Given the description of an element on the screen output the (x, y) to click on. 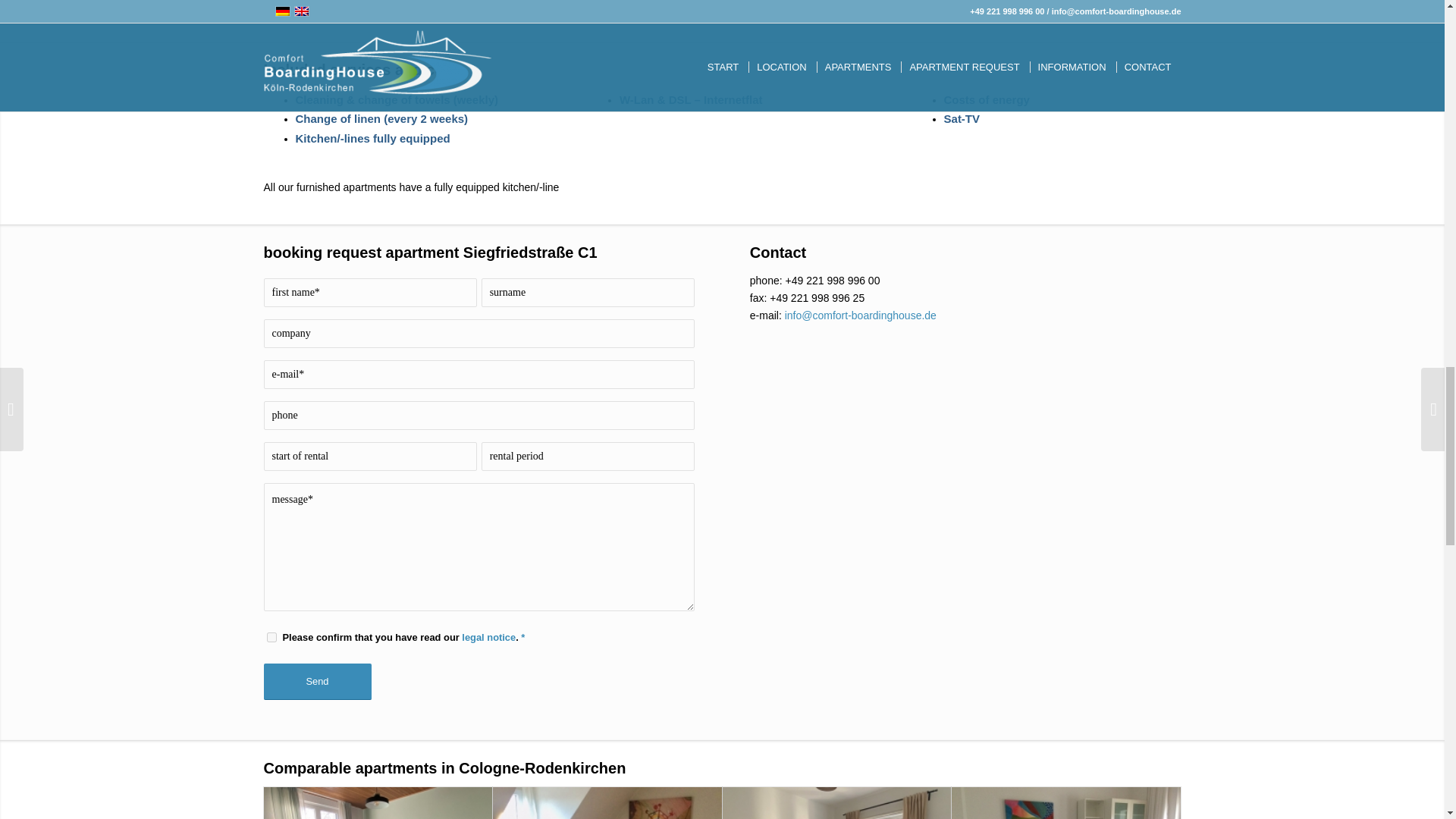
Send (317, 681)
true (271, 637)
Send (317, 681)
legal notice (488, 636)
